Given the description of an element on the screen output the (x, y) to click on. 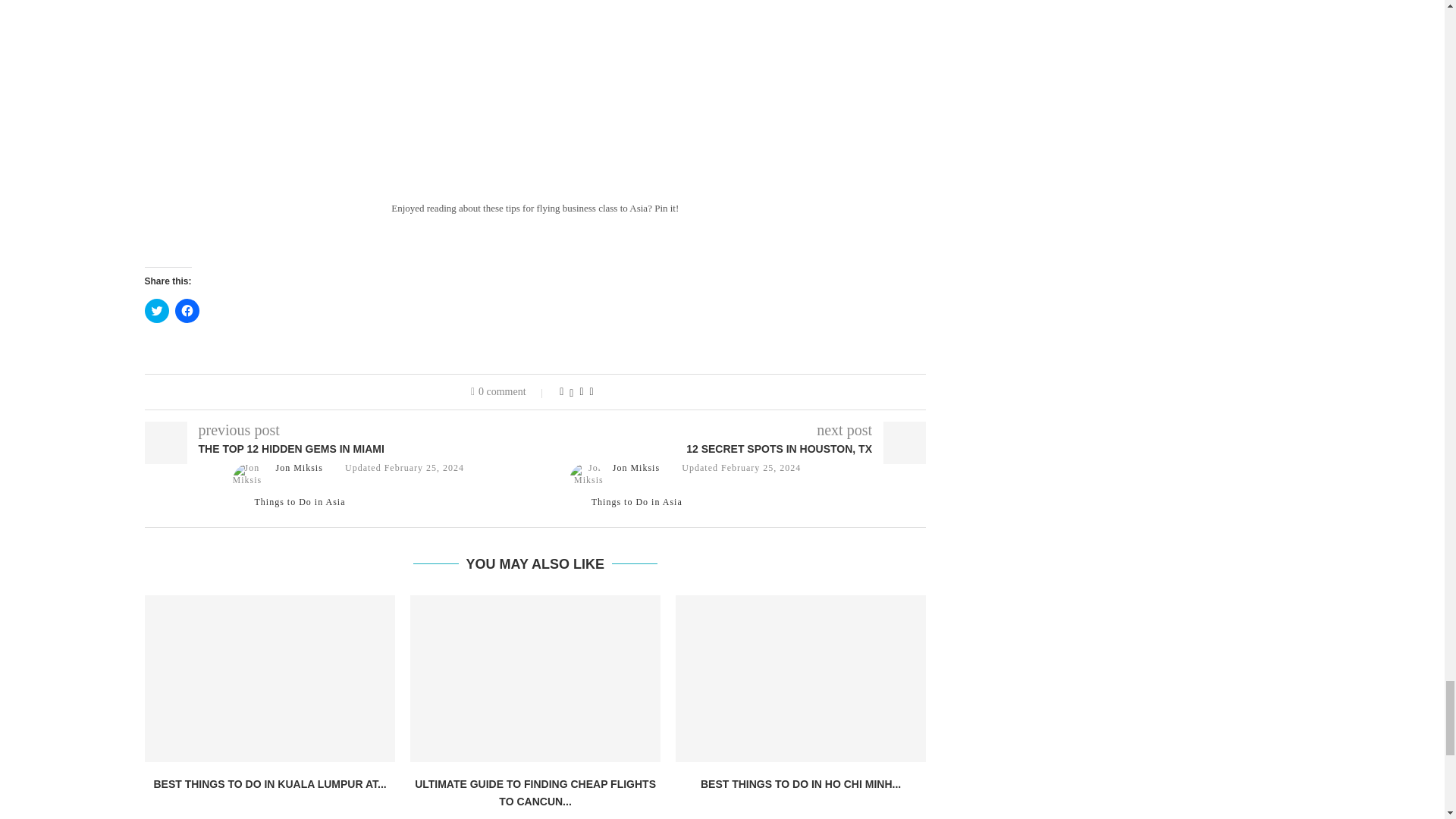
Click to share on Facebook (186, 310)
Click to share on Twitter (156, 310)
